Given the description of an element on the screen output the (x, y) to click on. 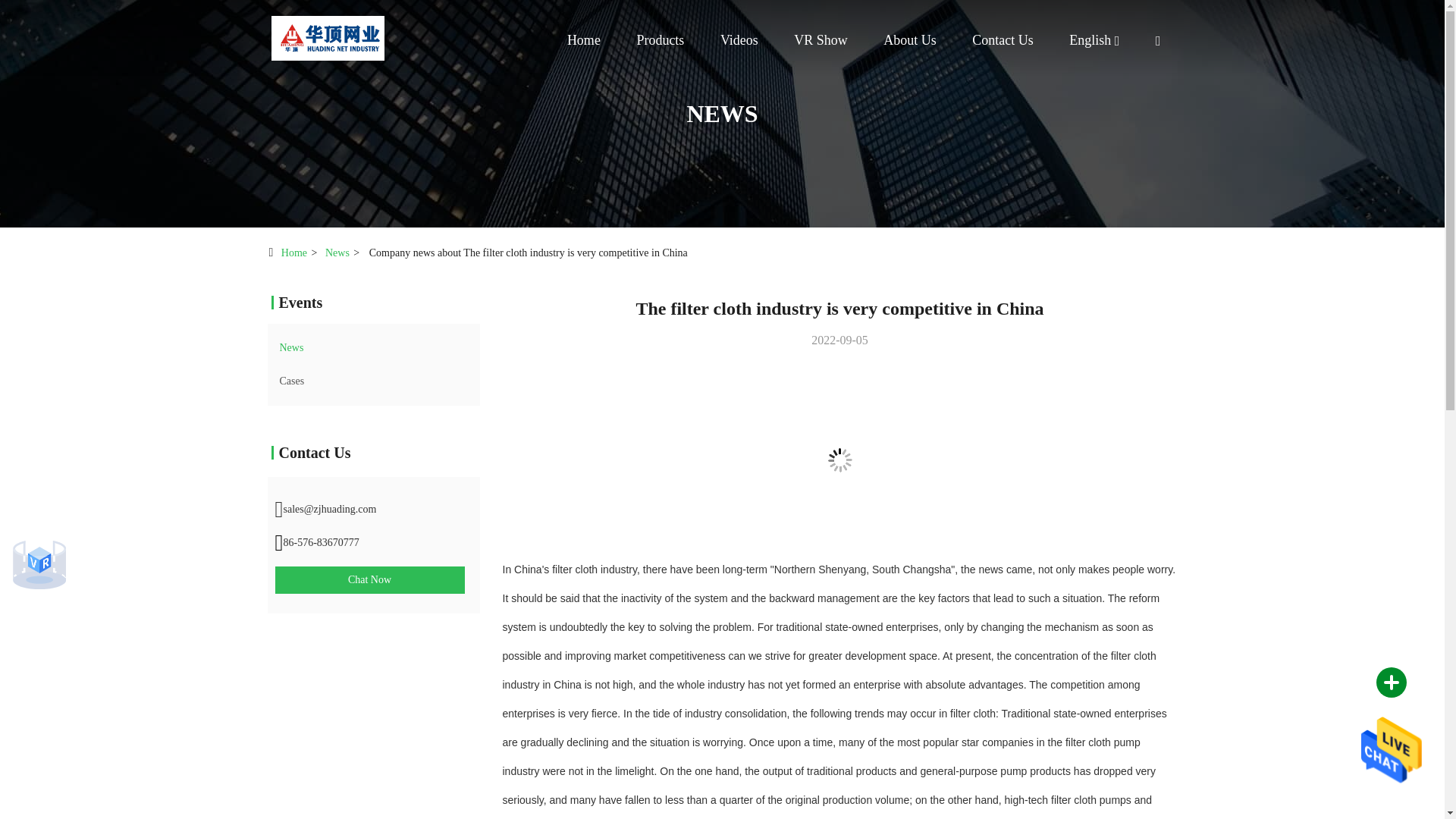
Products (660, 40)
Contact Us (1002, 40)
About Us (909, 40)
Home (327, 37)
VR Show (820, 40)
Products (660, 40)
